Given the description of an element on the screen output the (x, y) to click on. 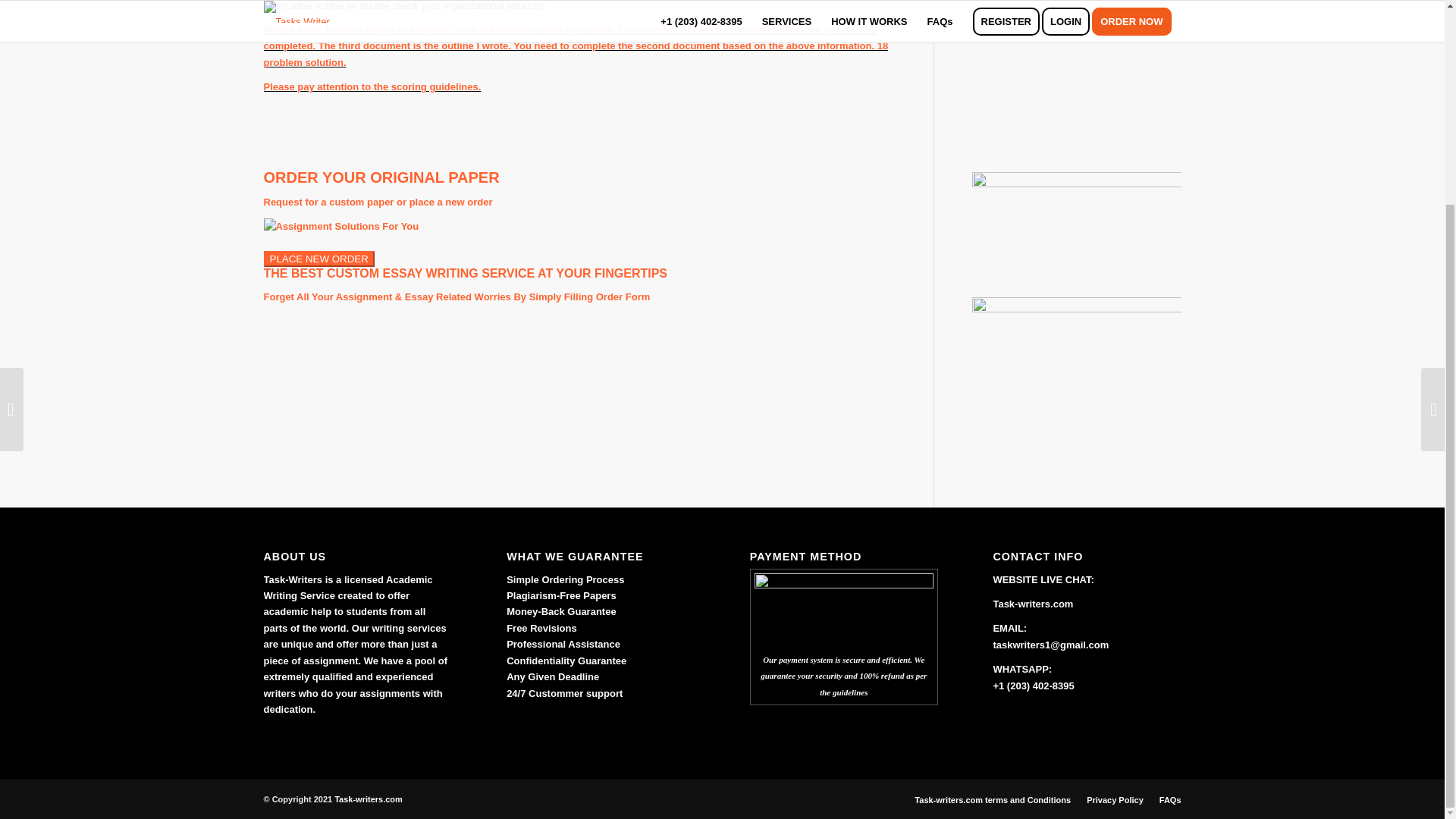
ORDER YOUR ORIGINAL PAPER (381, 176)
PLACE NEW ORDER (318, 258)
PLACE NEW ORDER (318, 258)
Privacy Policy (1114, 799)
FAQs (1169, 799)
Task-writers.com (368, 798)
Task-writers.com terms and Conditions (992, 799)
